Given the description of an element on the screen output the (x, y) to click on. 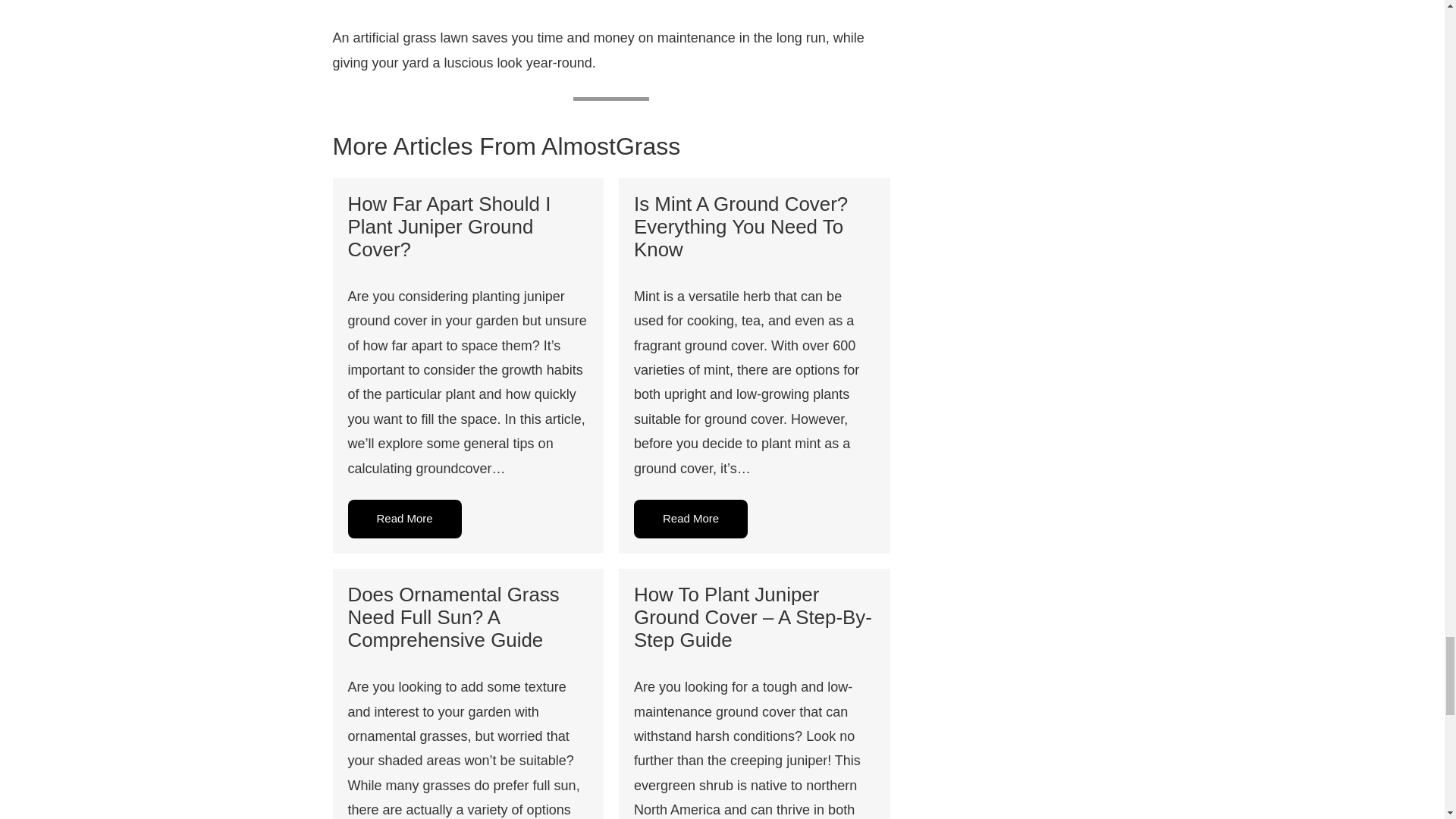
Read More (690, 518)
Is Mint A Ground Cover? Everything You Need To Know (740, 226)
Read More (404, 518)
Does Ornamental Grass Need Full Sun? A Comprehensive Guide (453, 616)
How Far Apart Should I Plant Juniper Ground Cover? (448, 226)
